Given the description of an element on the screen output the (x, y) to click on. 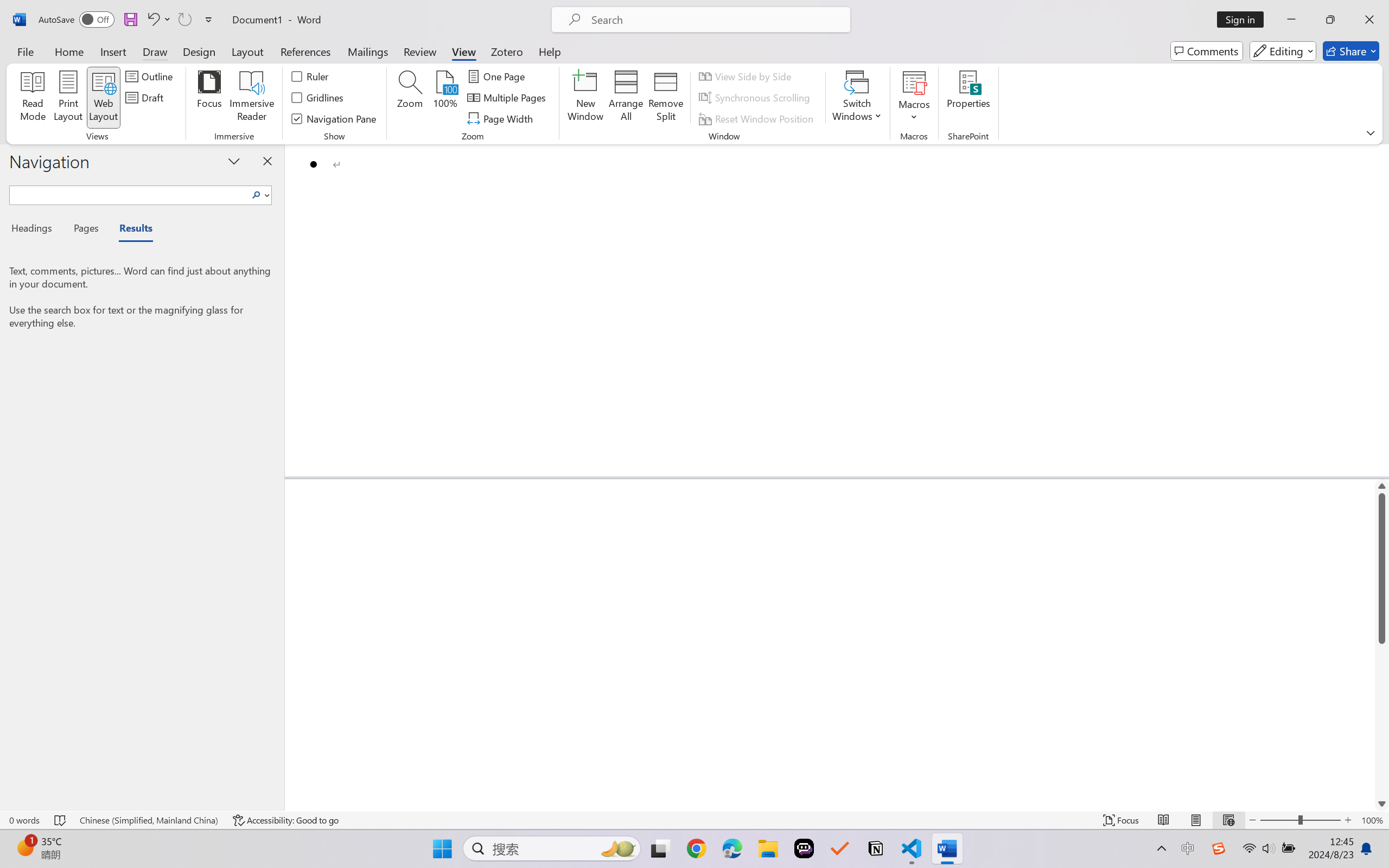
Pages (85, 229)
Properties (967, 97)
Outline (150, 75)
